Given the description of an element on the screen output the (x, y) to click on. 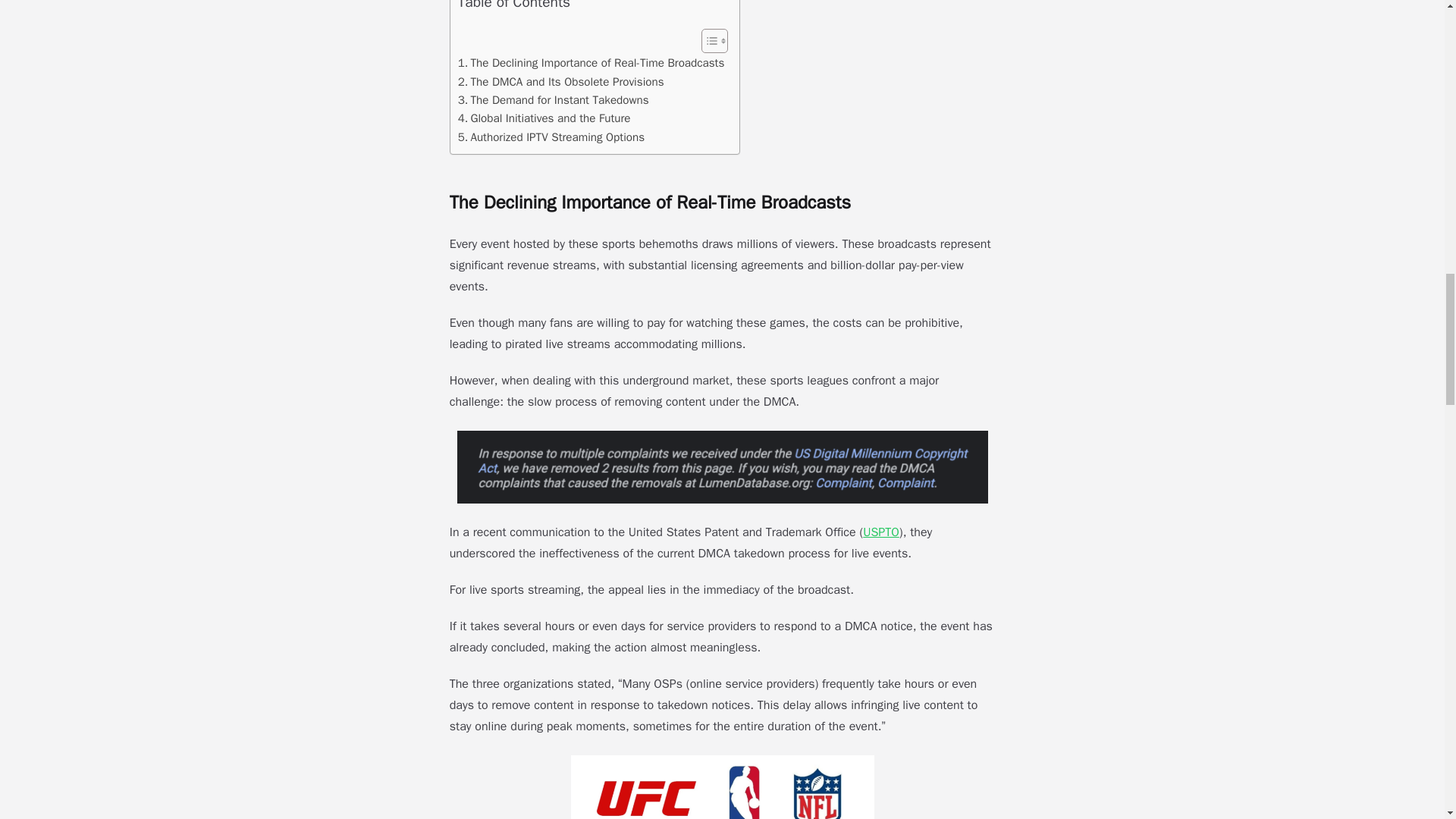
The DMCA and Its Outdated Provisions (560, 81)
The Demand for Immediate Takedowns (553, 99)
Authorized IPTV Streaming Options (551, 136)
Global Initiatives and the Path Forward (544, 117)
The Eroding Value of Live Broadcasts (591, 63)
